Given the description of an element on the screen output the (x, y) to click on. 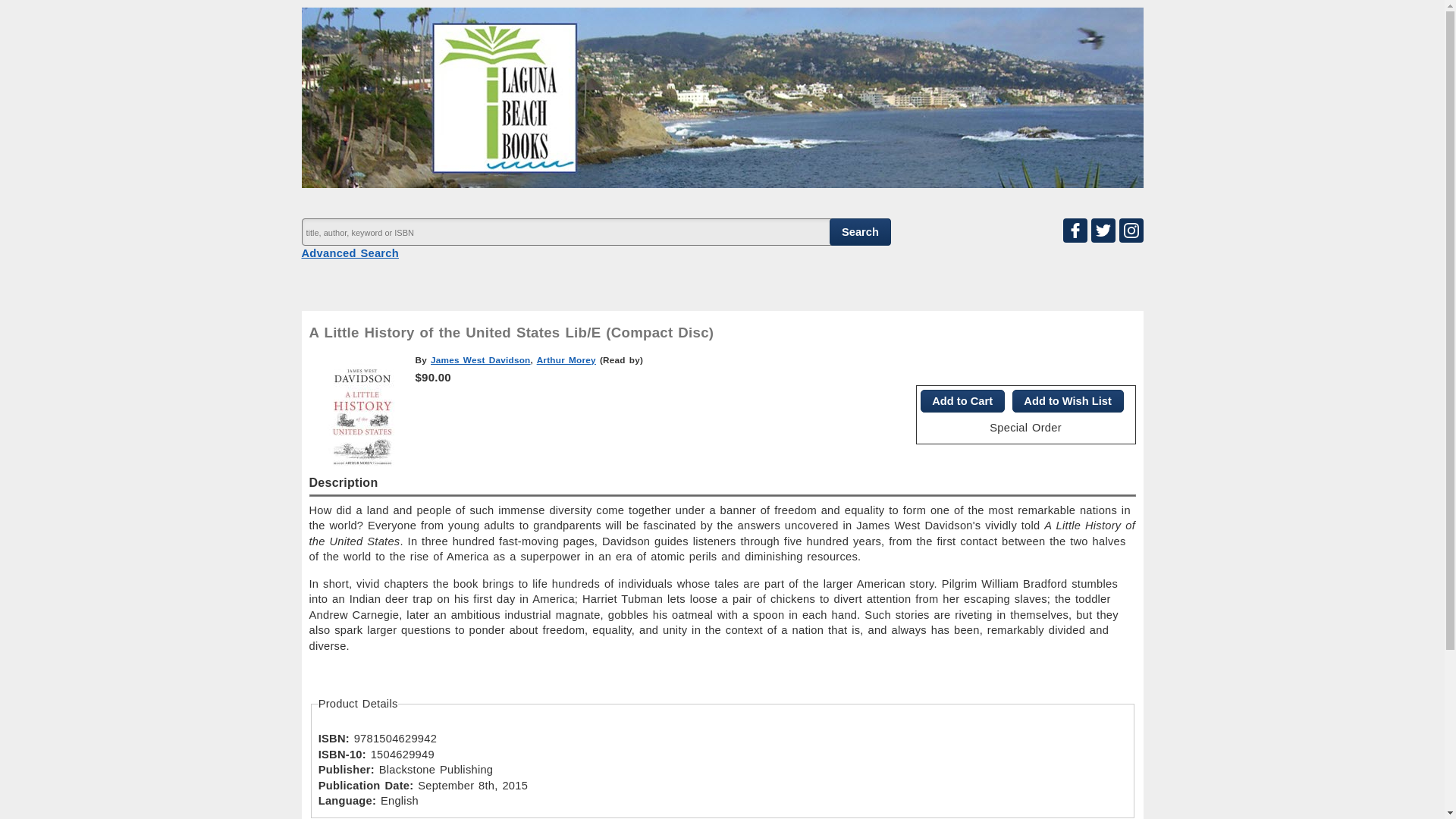
Advanced Search (349, 253)
Add to Cart (962, 400)
Add to Cart (962, 400)
Home page (726, 179)
Search (859, 231)
Arthur Morey (566, 359)
James West Davidson (480, 359)
Enter the terms you wish to search for. (595, 231)
Add to Wish List (1067, 400)
Add to Wish List (1067, 400)
Search (859, 231)
